Given the description of an element on the screen output the (x, y) to click on. 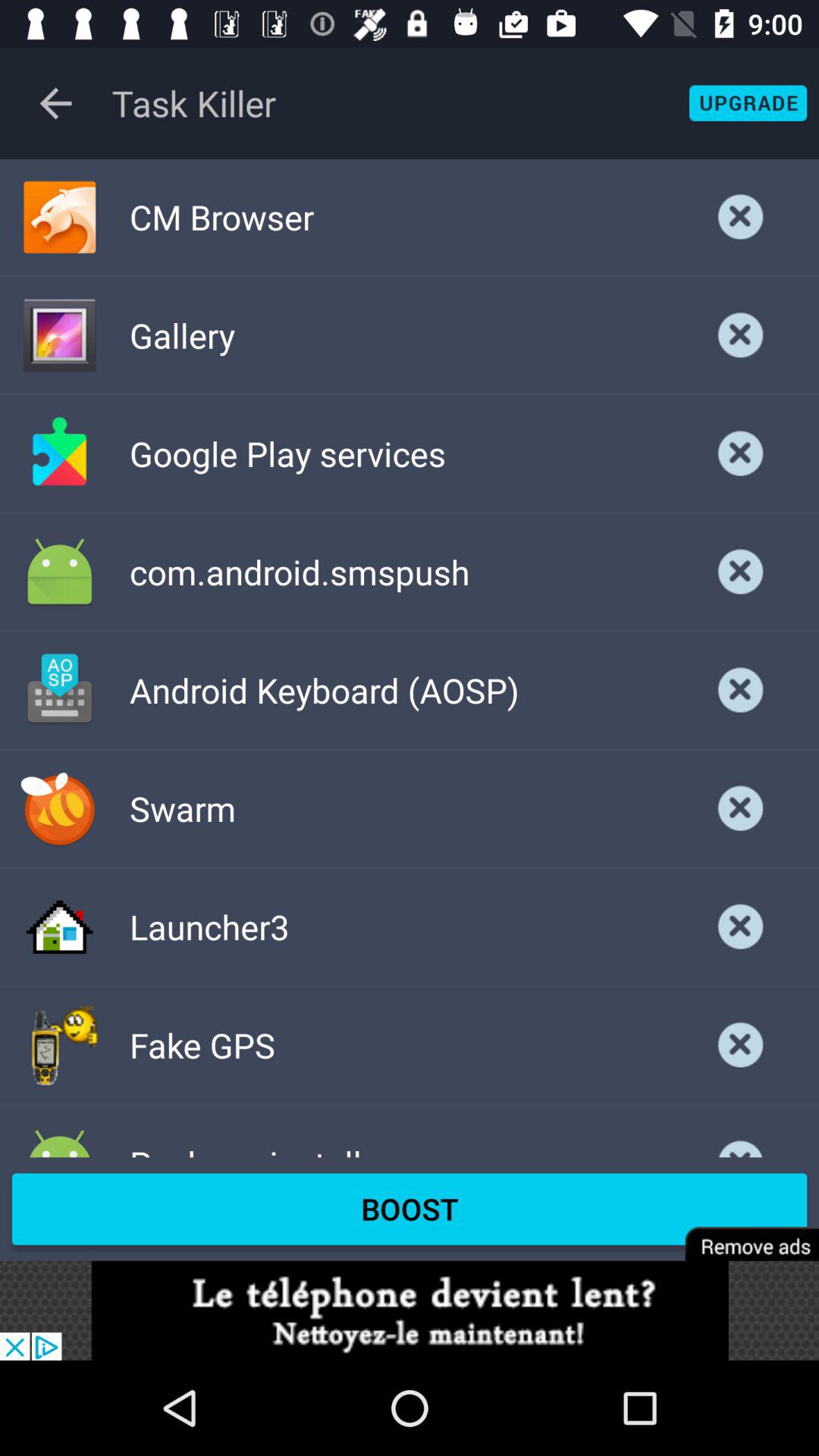
close app (740, 690)
